Given the description of an element on the screen output the (x, y) to click on. 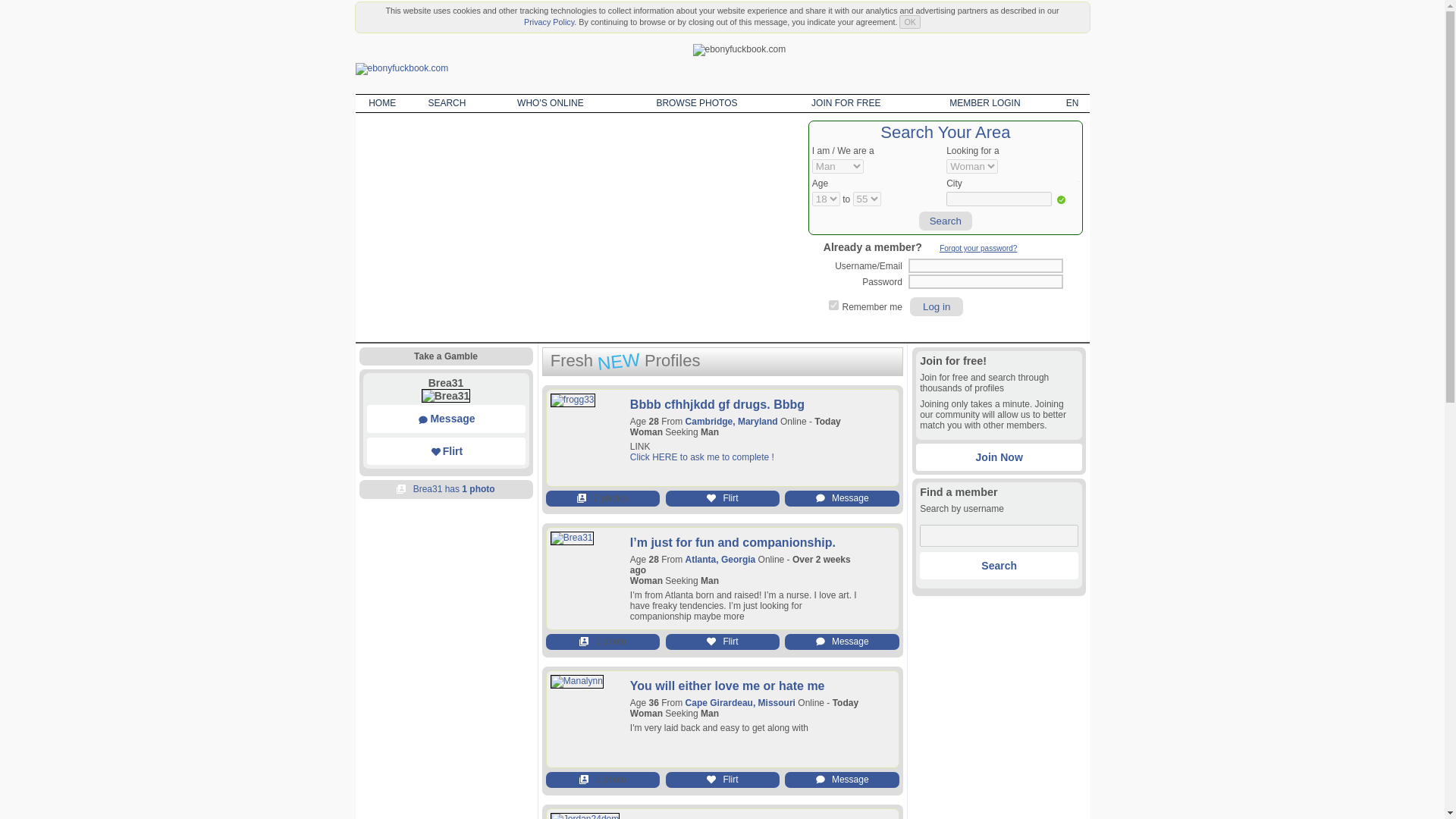
BROWSE PHOTOS (696, 103)
Privacy Policy (548, 21)
ON (833, 305)
Cambridge, Maryland (731, 421)
Brea31 (446, 382)
OK (909, 21)
Log in (936, 306)
JOIN FOR FREE (845, 103)
Message (445, 418)
ebonyfuckbook.com (401, 69)
